Given the description of an element on the screen output the (x, y) to click on. 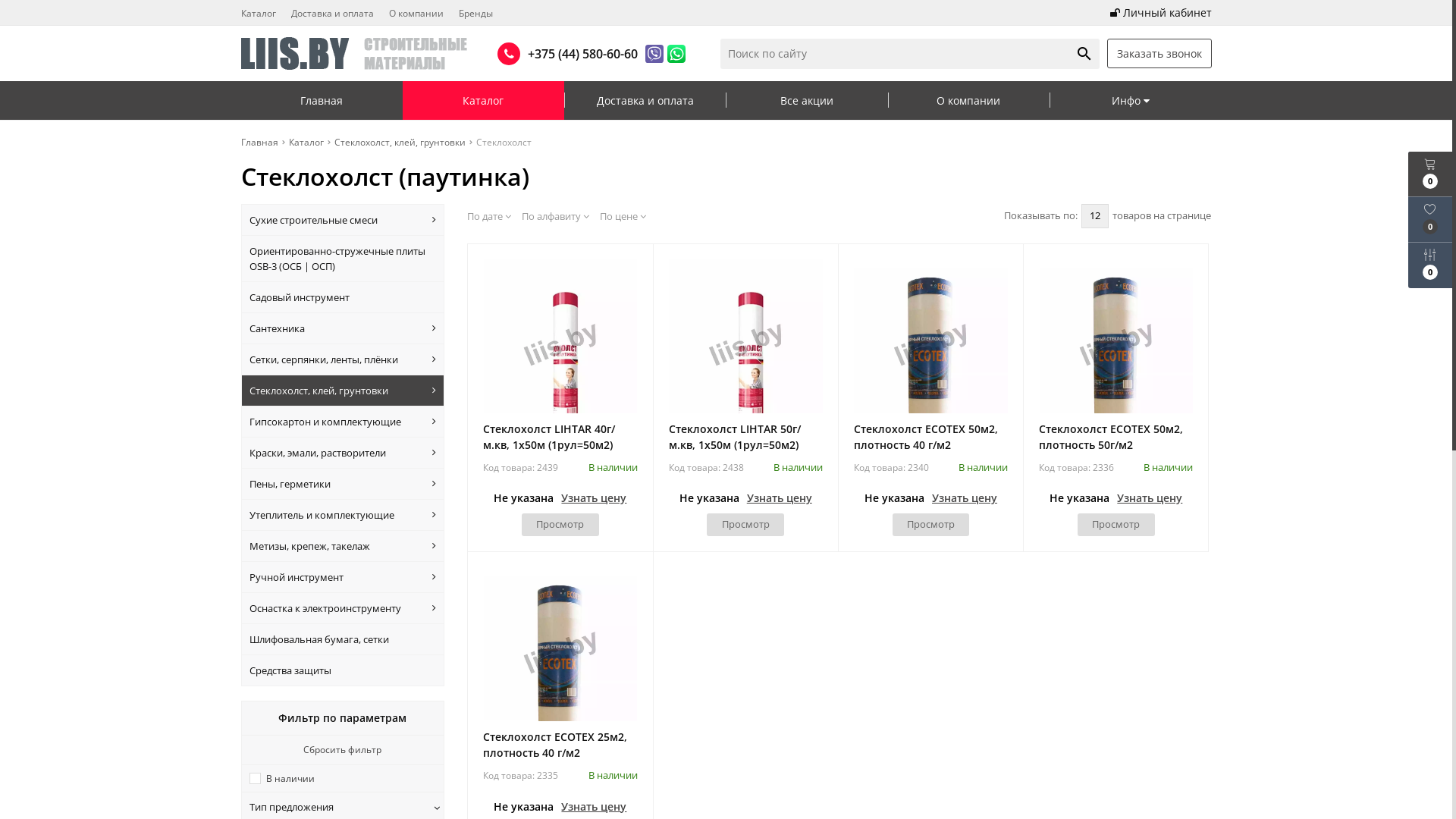
+375 (44) 580-60-60 Element type: text (578, 52)
0 Element type: text (1430, 173)
search Element type: text (1084, 52)
0 Element type: text (1430, 265)
0 Element type: text (1430, 219)
